Given the description of an element on the screen output the (x, y) to click on. 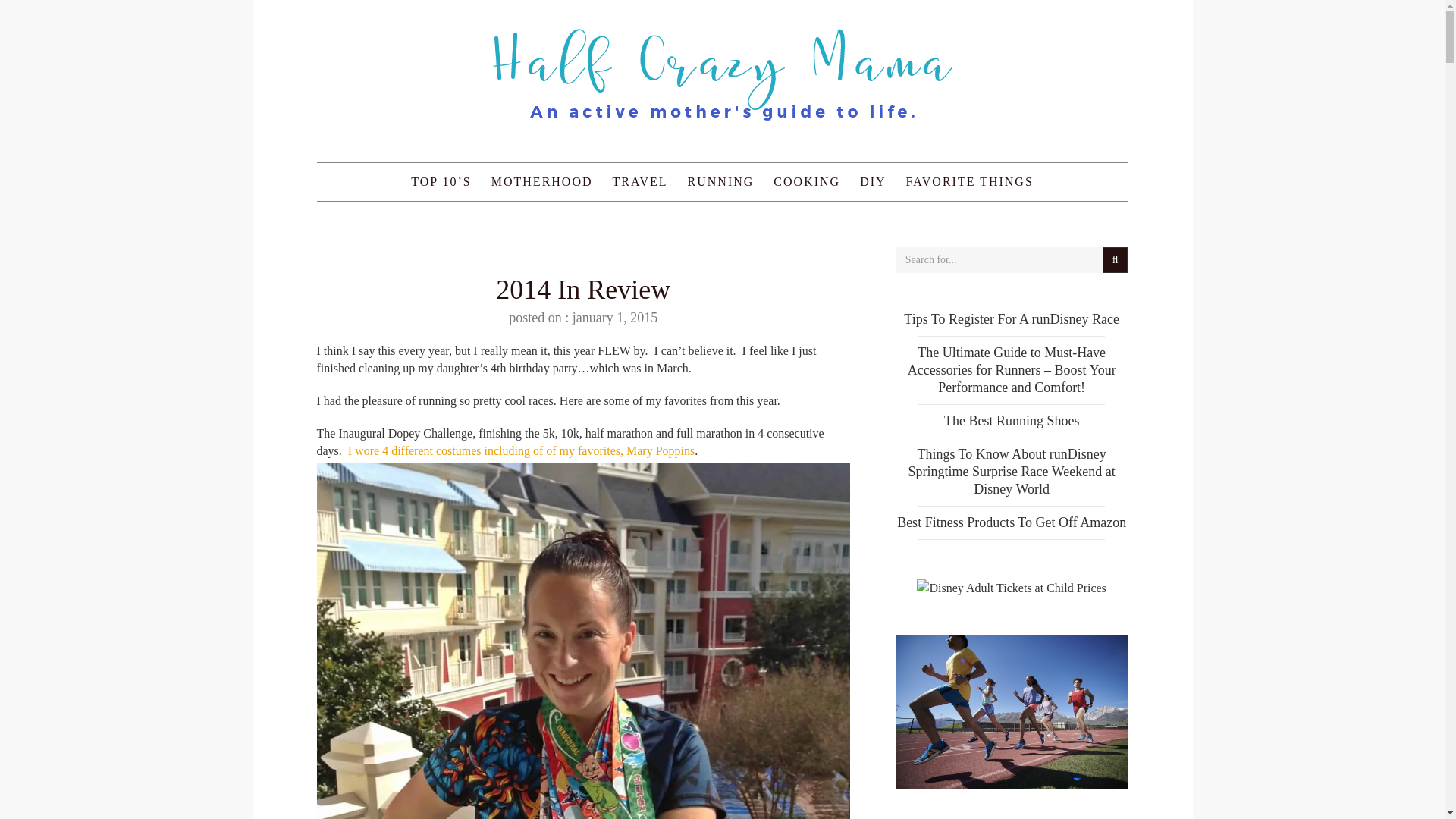
RUNNING (721, 181)
MOTHERHOOD (541, 181)
TRAVEL (640, 181)
DIY (872, 181)
COOKING (806, 181)
FAVORITE THINGS (969, 181)
posted on : january 1, 2015 (583, 317)
